Given the description of an element on the screen output the (x, y) to click on. 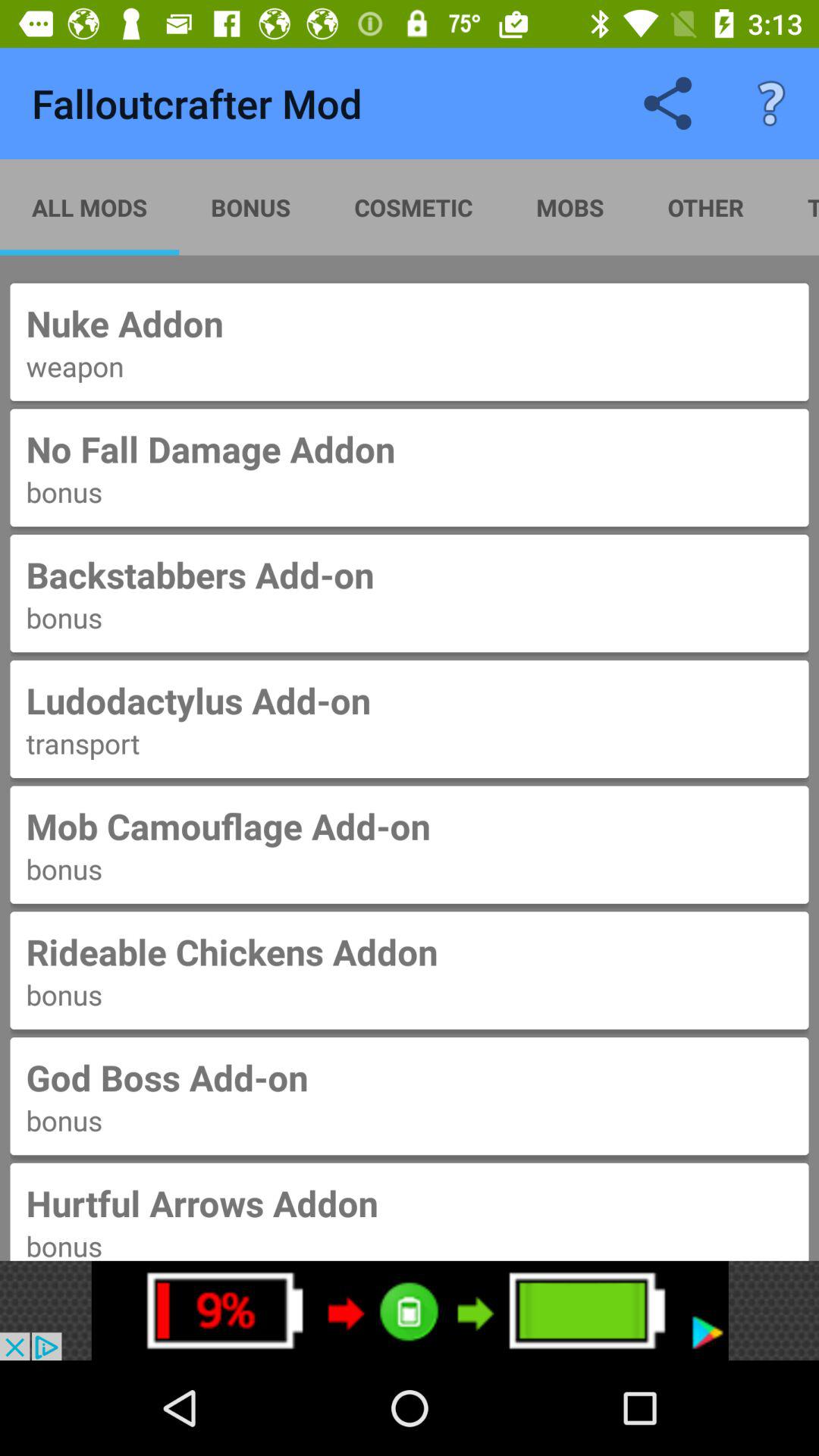
advertisement banner (409, 1310)
